Given the description of an element on the screen output the (x, y) to click on. 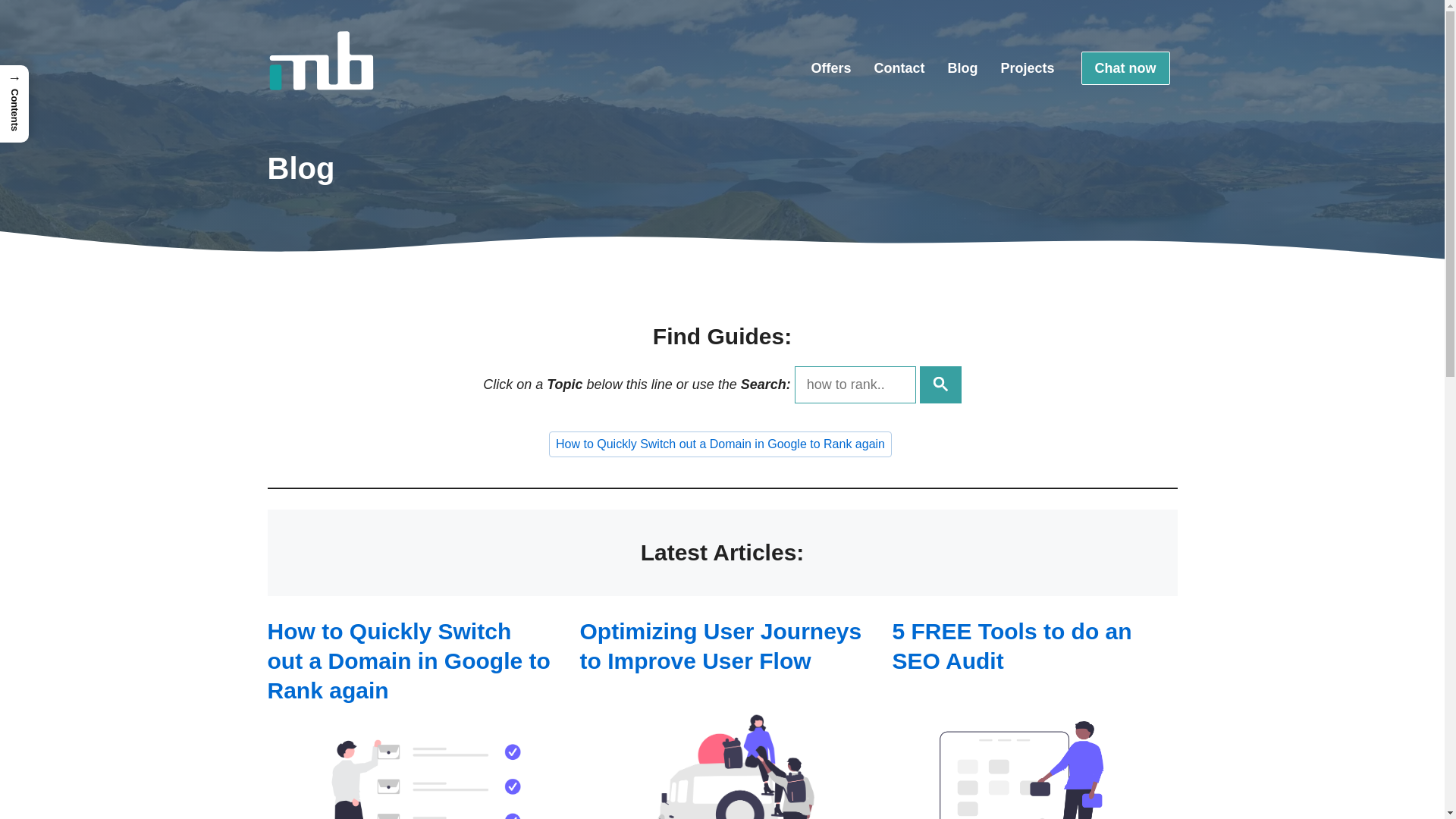
How to Quickly Switch out a Domain in Google to Rank again Element type: text (720, 444)
Chat now Element type: text (1125, 68)
5 FREE Tools to do an SEO Audit Element type: text (1011, 645)
How to Quickly Switch out a Domain in Google to Rank again Element type: text (407, 660)
Offers Element type: text (830, 68)
Blog Element type: text (961, 68)
Contact Element type: text (898, 68)
Search Element type: text (940, 384)
Projects Element type: text (1026, 68)
Optimizing User Journeys to Improve User Flow Element type: text (720, 645)
